Given the description of an element on the screen output the (x, y) to click on. 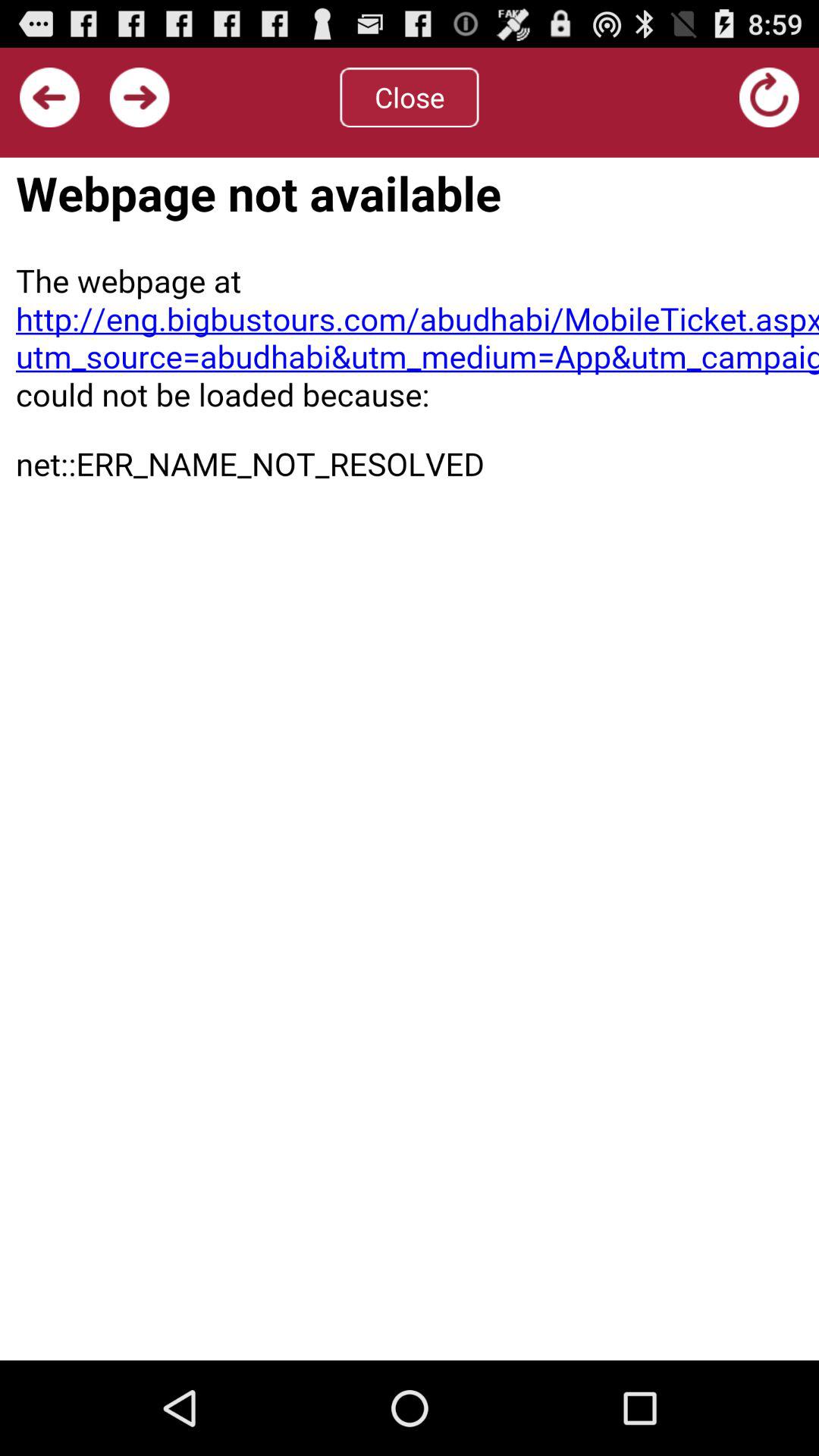
rotational option (769, 97)
